Given the description of an element on the screen output the (x, y) to click on. 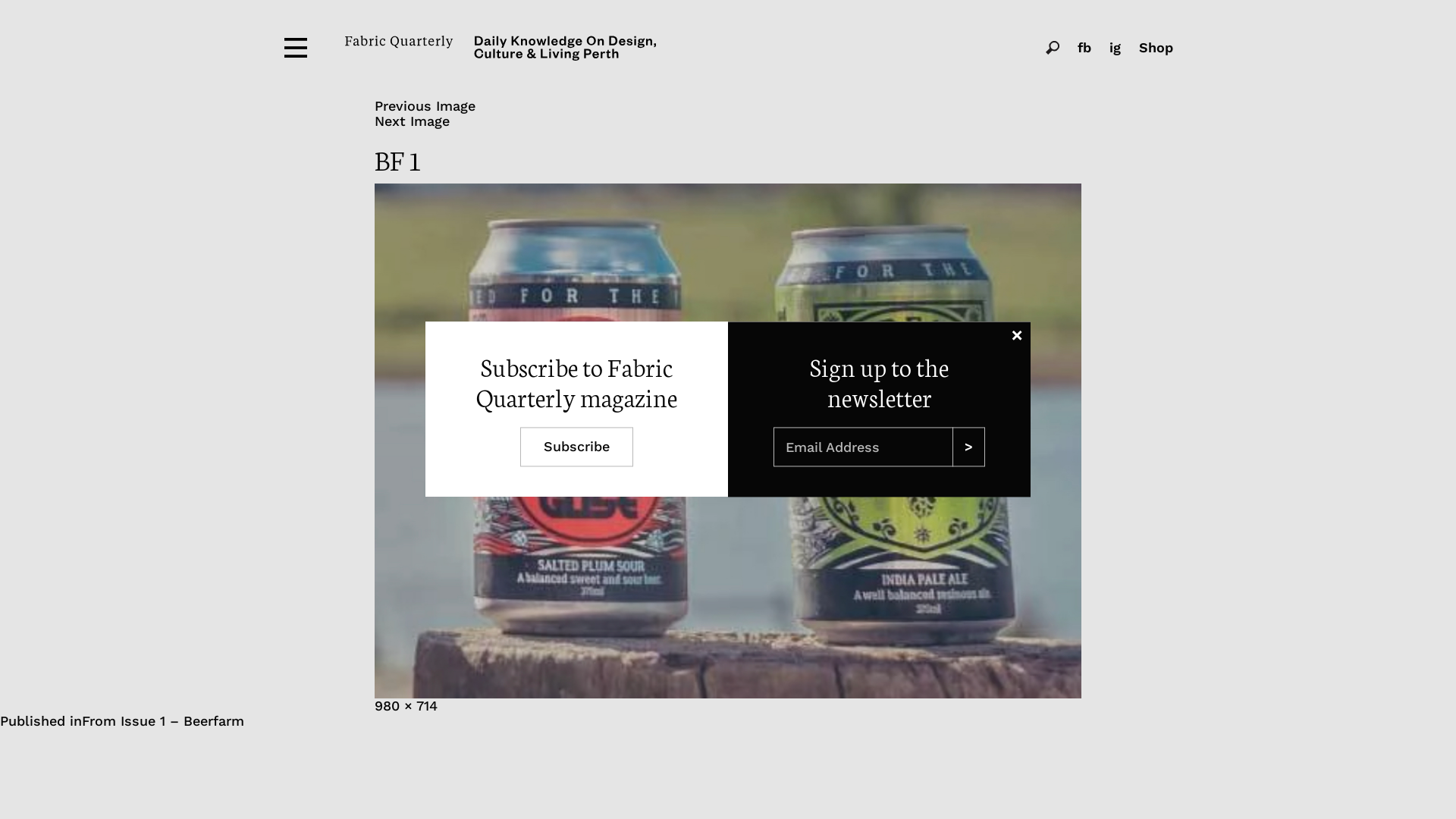
fb Element type: text (1084, 47)
Subscribe Element type: text (576, 447)
Previous Image Element type: text (424, 105)
Toggle navigation Element type: text (295, 47)
ig Element type: text (1114, 47)
Shop Element type: text (1155, 47)
> Element type: text (968, 447)
Next Image Element type: text (411, 120)
